Given the description of an element on the screen output the (x, y) to click on. 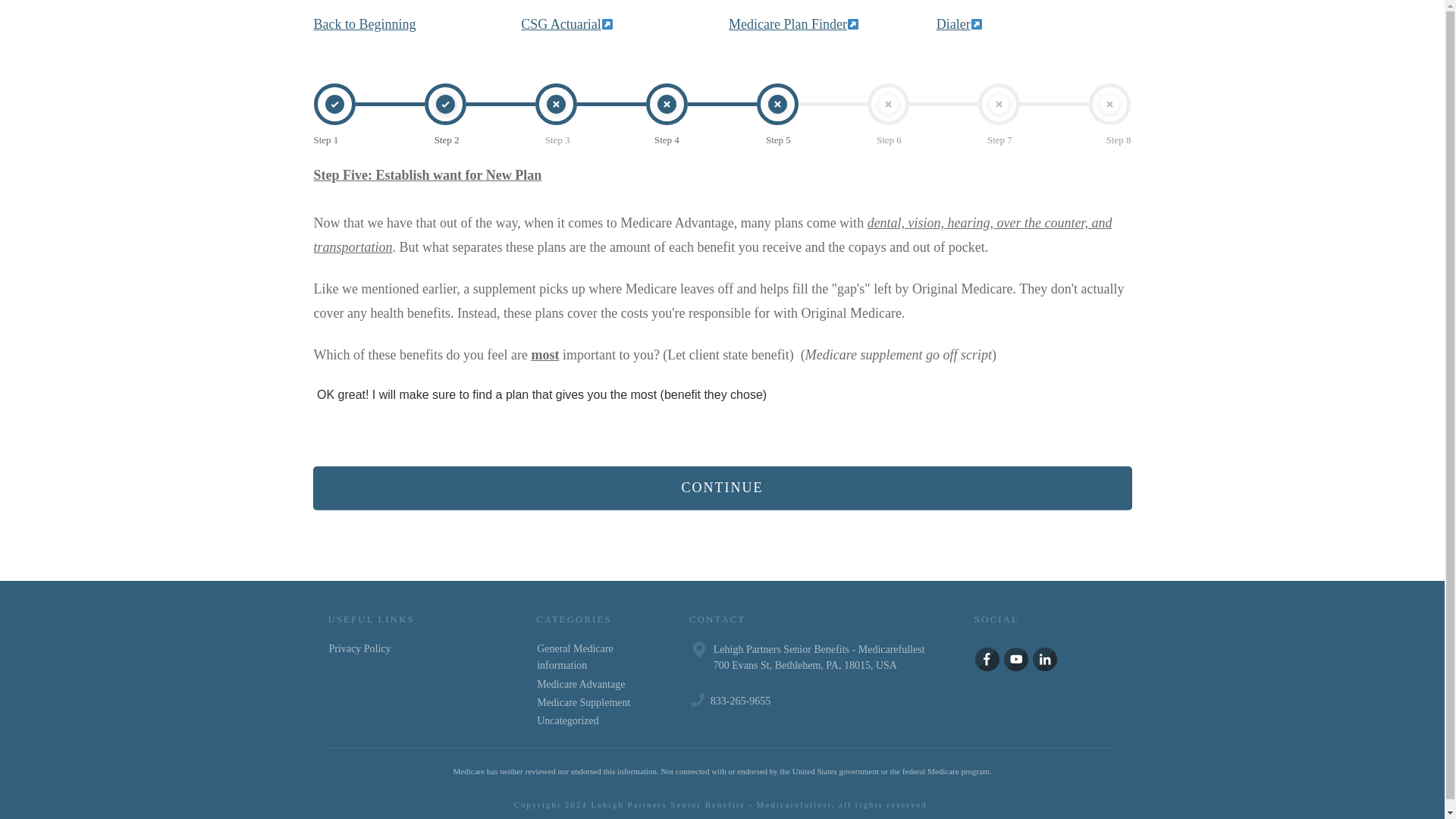
Dialer (959, 23)
CONTINUE (722, 488)
Back to Beginning (365, 23)
Uncategorized (567, 720)
CSG Actuarial (561, 23)
General Medicare information (593, 657)
Privacy Policy (360, 648)
Medicare Advantage (580, 684)
Medicare Supplement (583, 702)
Medicare Plan Finder (794, 23)
